Given the description of an element on the screen output the (x, y) to click on. 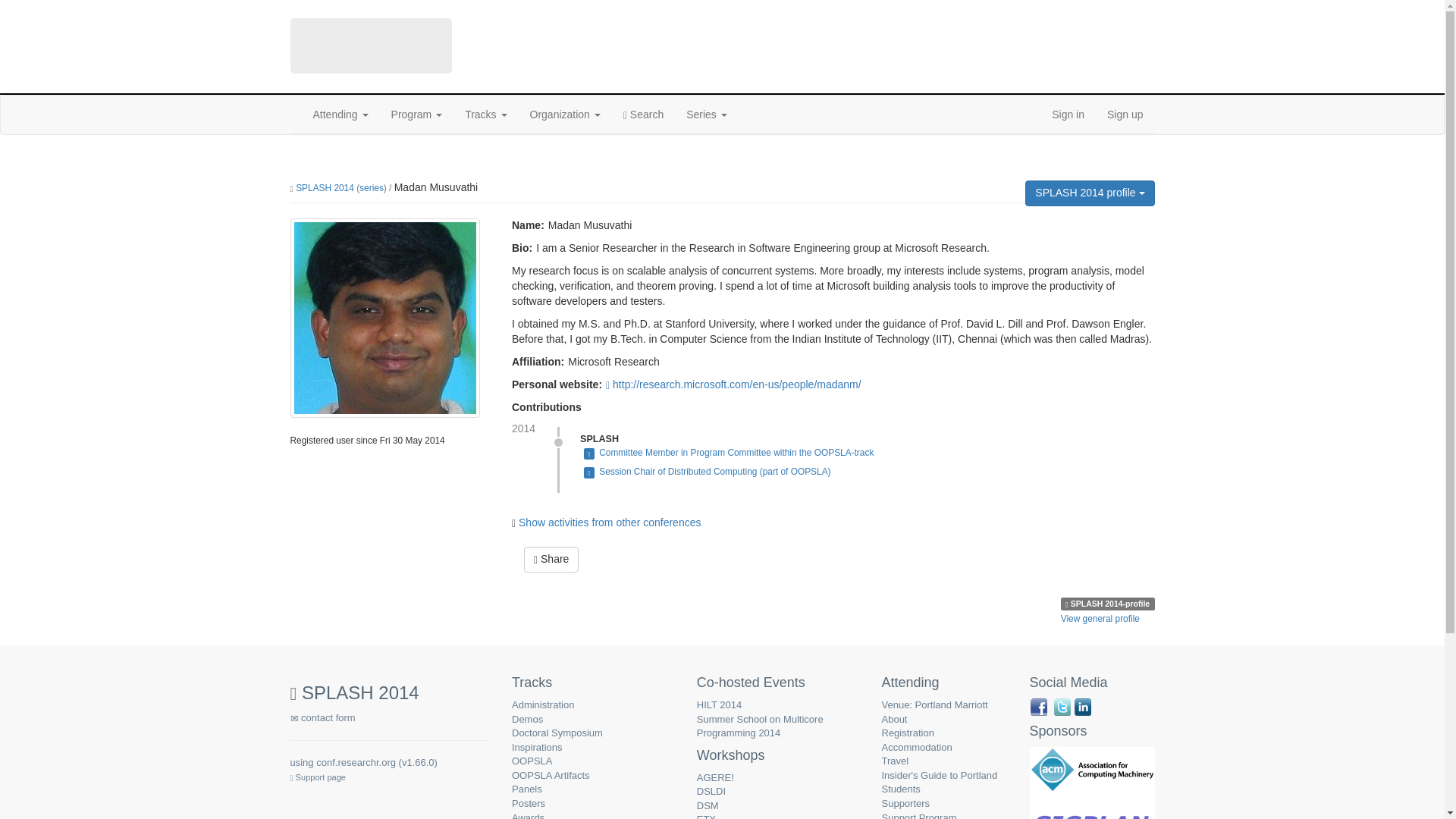
Portland, Oregon, United States (509, 83)
Tracks (485, 114)
Attending (340, 114)
Program (417, 114)
